Given the description of an element on the screen output the (x, y) to click on. 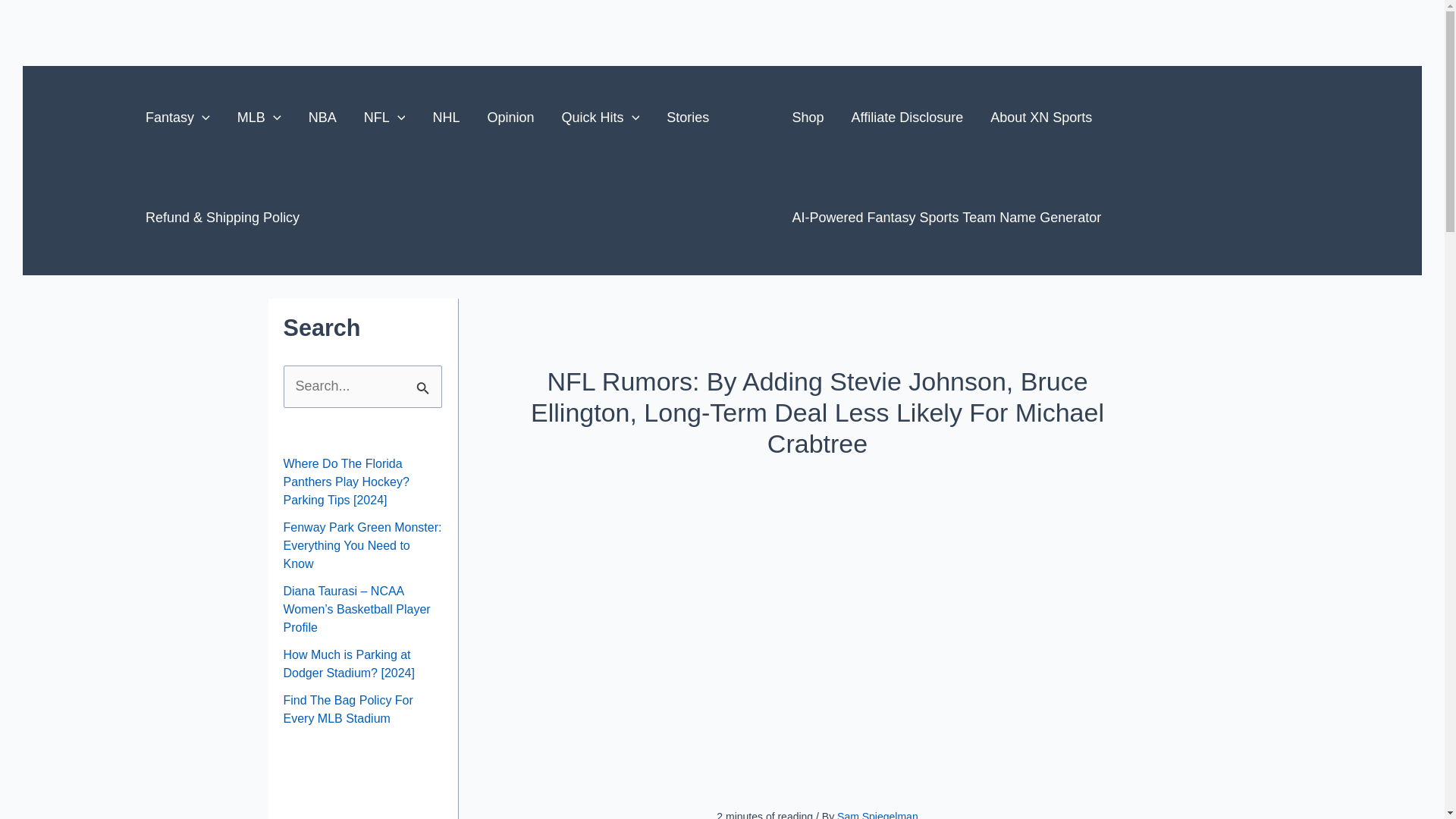
AI-Powered Fantasy Sports Team Name Generator (946, 217)
Fantasy (178, 117)
Search (424, 381)
Quick Hits (600, 117)
About XN Sports (1040, 117)
Search (424, 381)
View all posts by Sam Spiegelman (877, 814)
Affiliate Disclosure (906, 117)
